Given the description of an element on the screen output the (x, y) to click on. 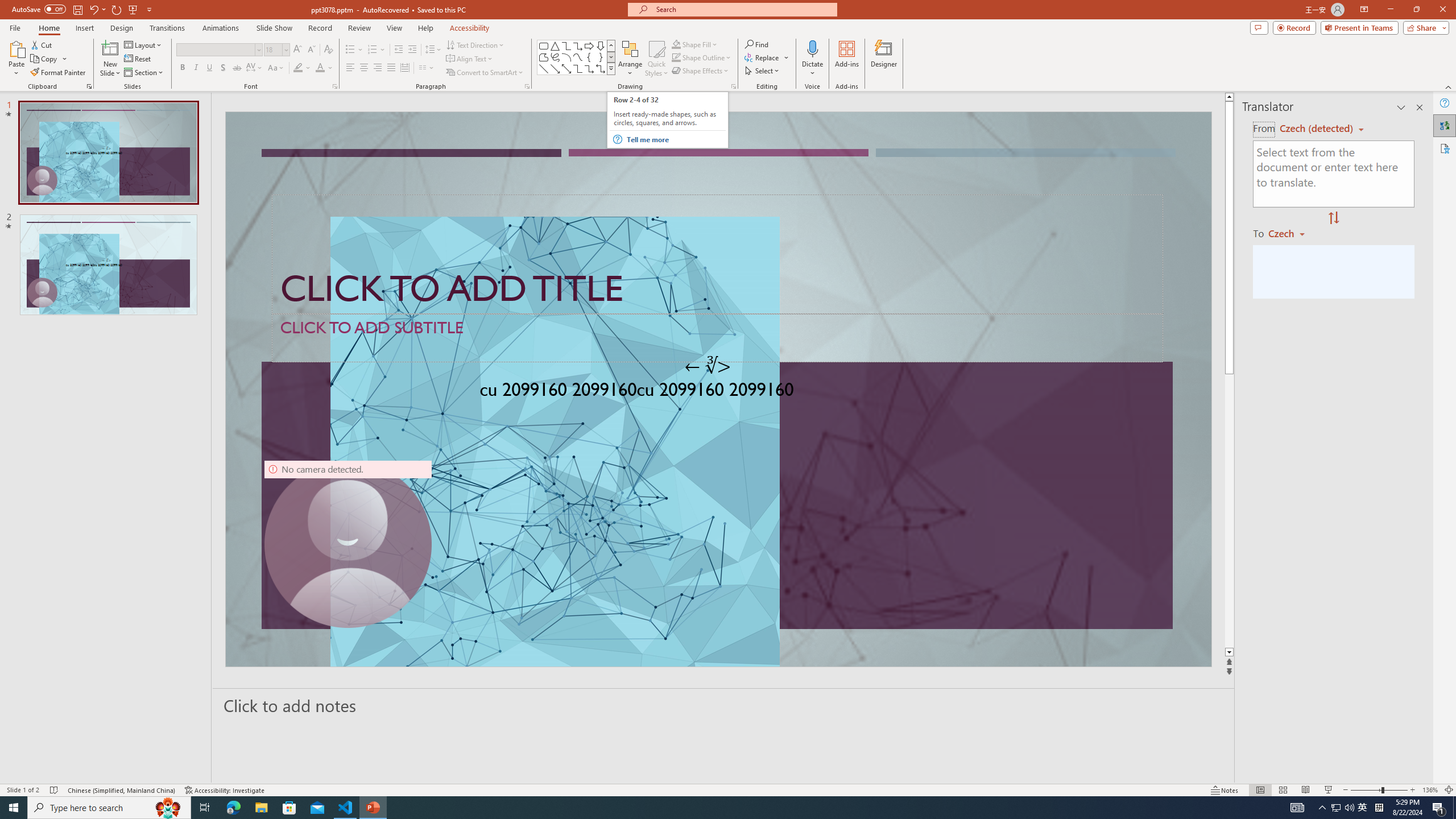
Tell me more (675, 139)
Line Arrow: Double (566, 68)
Shapes (611, 68)
Text Highlight Color Yellow (297, 67)
Section (144, 72)
Decrease Font Size (310, 49)
Line Arrow (554, 68)
Decrease Indent (398, 49)
